Given the description of an element on the screen output the (x, y) to click on. 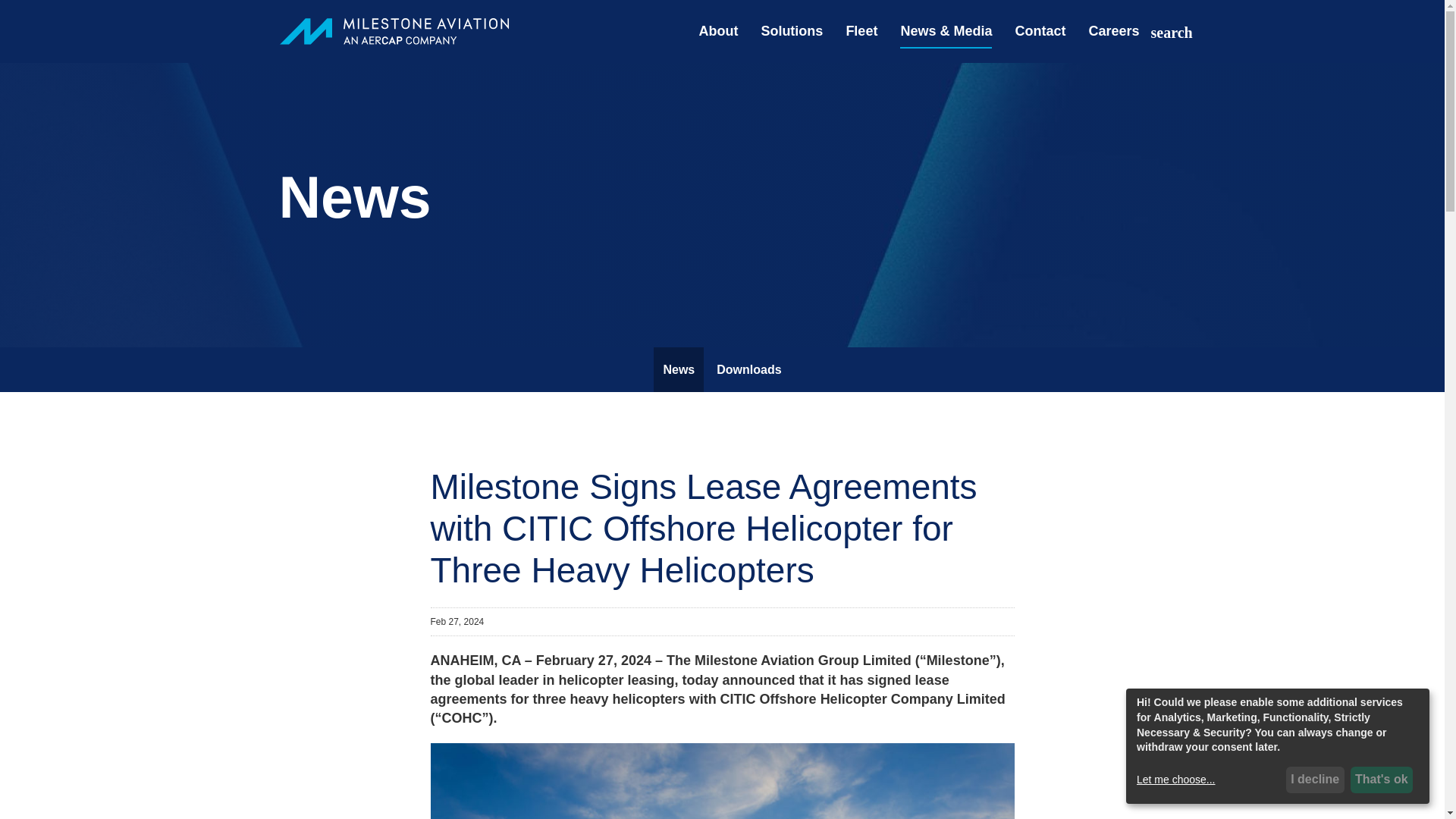
Contact (1040, 42)
I decline (1314, 779)
Solutions (791, 42)
News (678, 369)
About (718, 42)
Careers (1107, 42)
Fleet (861, 42)
Opens in a new window (1107, 42)
Downloads (748, 369)
Let me choose... (1209, 780)
